Given the description of an element on the screen output the (x, y) to click on. 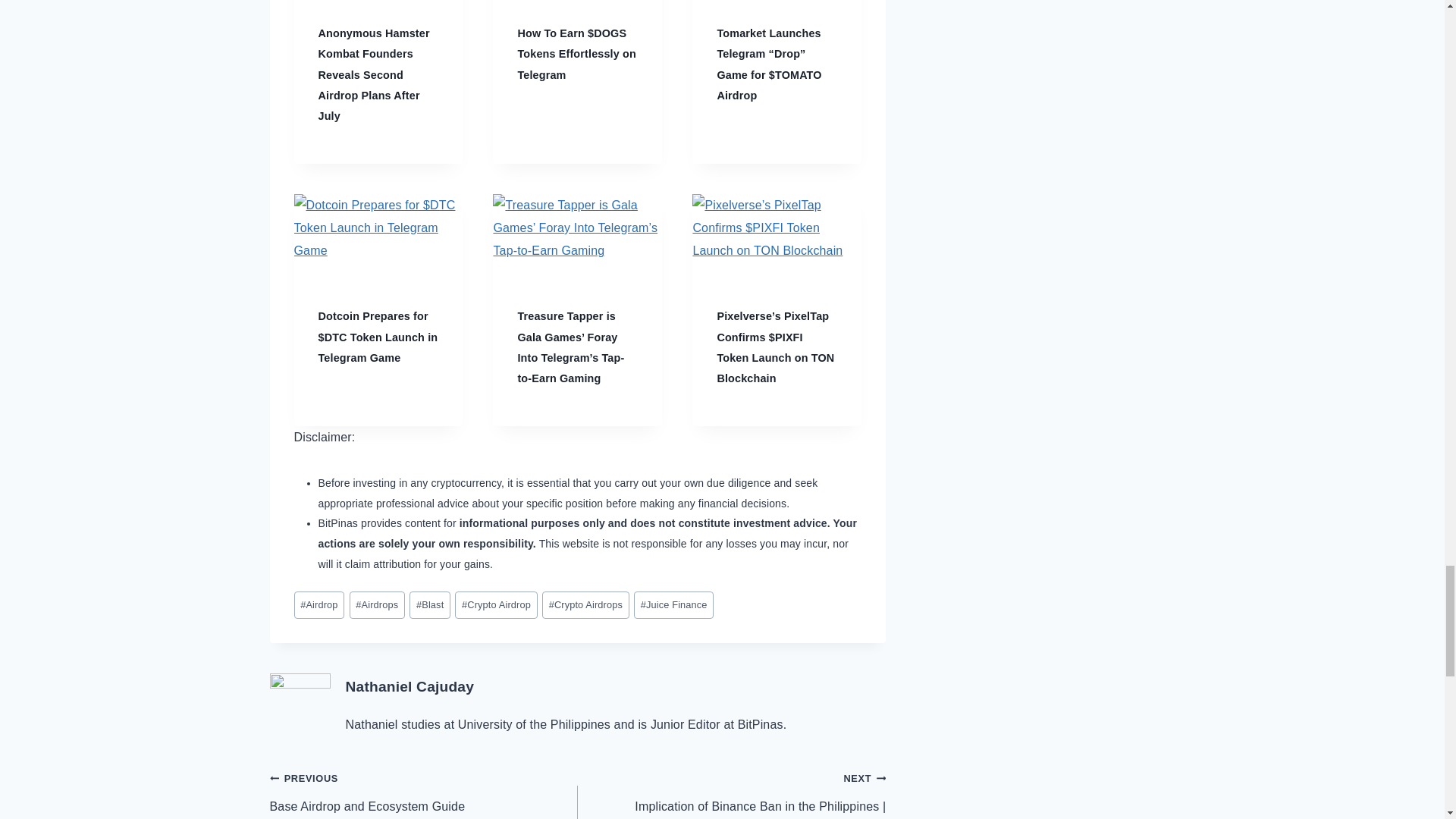
Blast (429, 605)
Airdrop (319, 605)
Airdrops (376, 605)
Crypto Airdrop (495, 605)
